Given the description of an element on the screen output the (x, y) to click on. 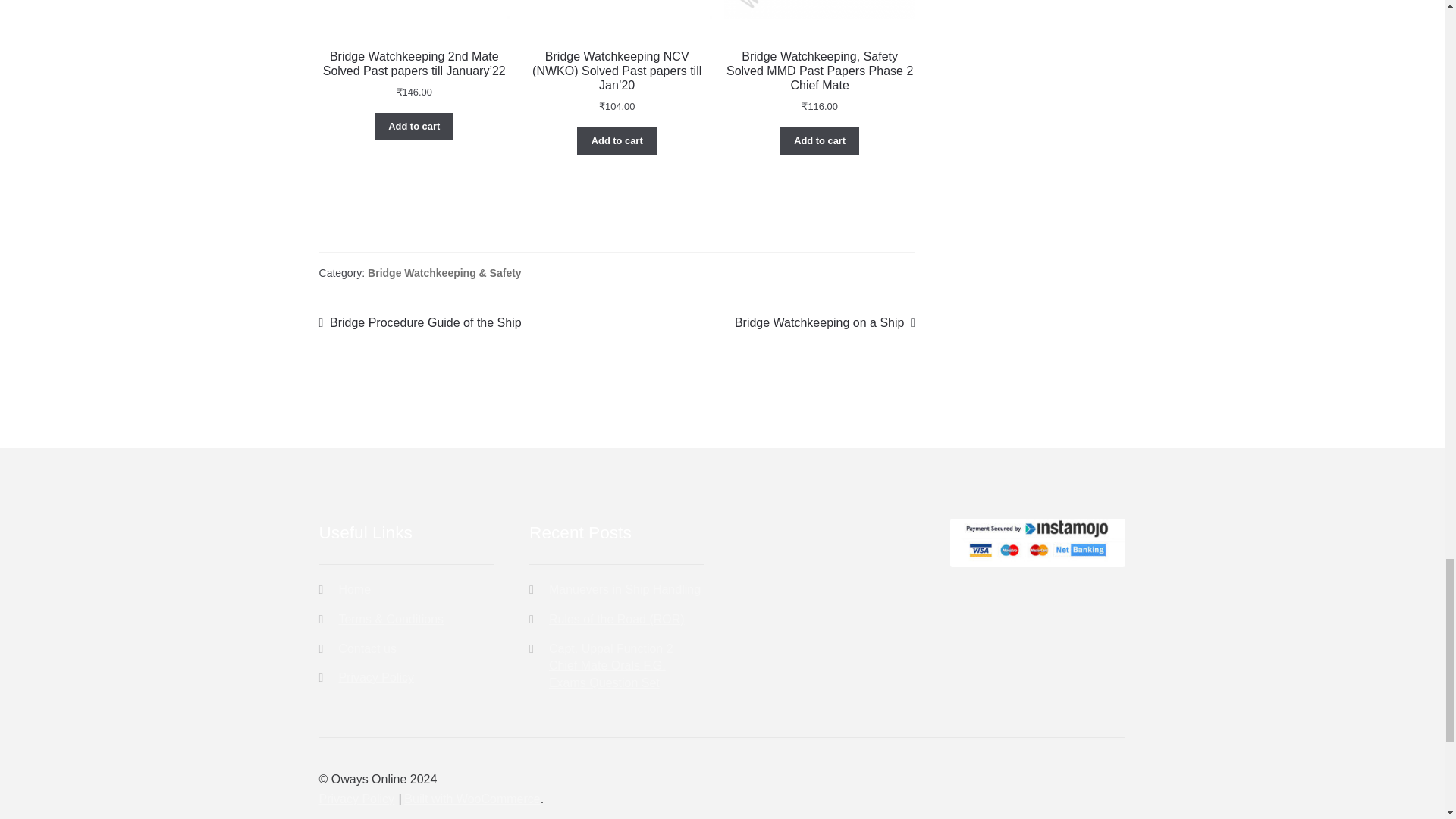
WooCommerce - The Best eCommerce Platform for WordPress (472, 798)
